Given the description of an element on the screen output the (x, y) to click on. 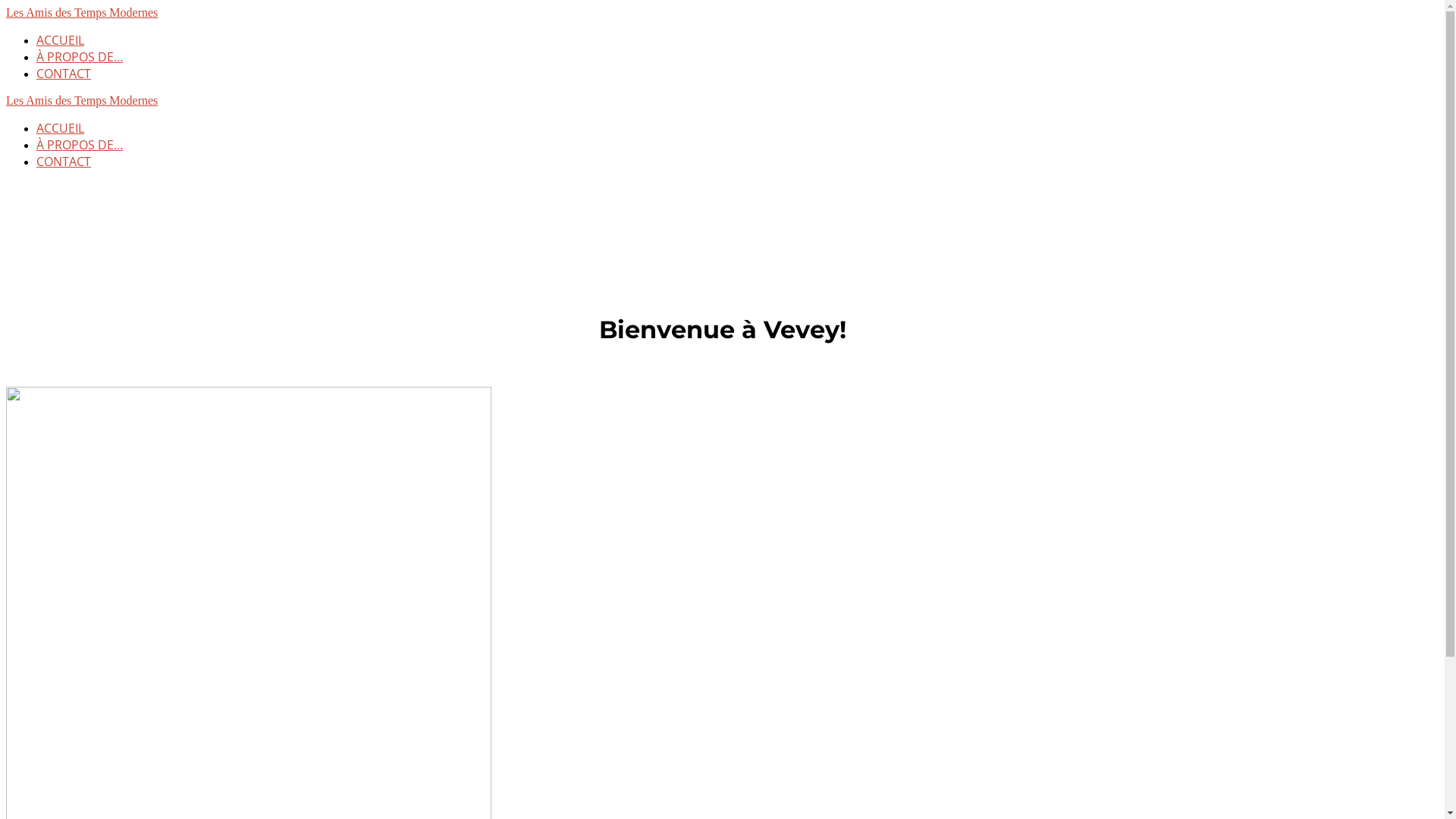
Les Amis des Temps Modernes Element type: text (81, 100)
ACCUEIL Element type: text (60, 39)
ACCUEIL Element type: text (60, 127)
Les Amis des Temps Modernes Element type: text (81, 12)
CONTACT Element type: text (63, 161)
CONTACT Element type: text (63, 73)
